Given the description of an element on the screen output the (x, y) to click on. 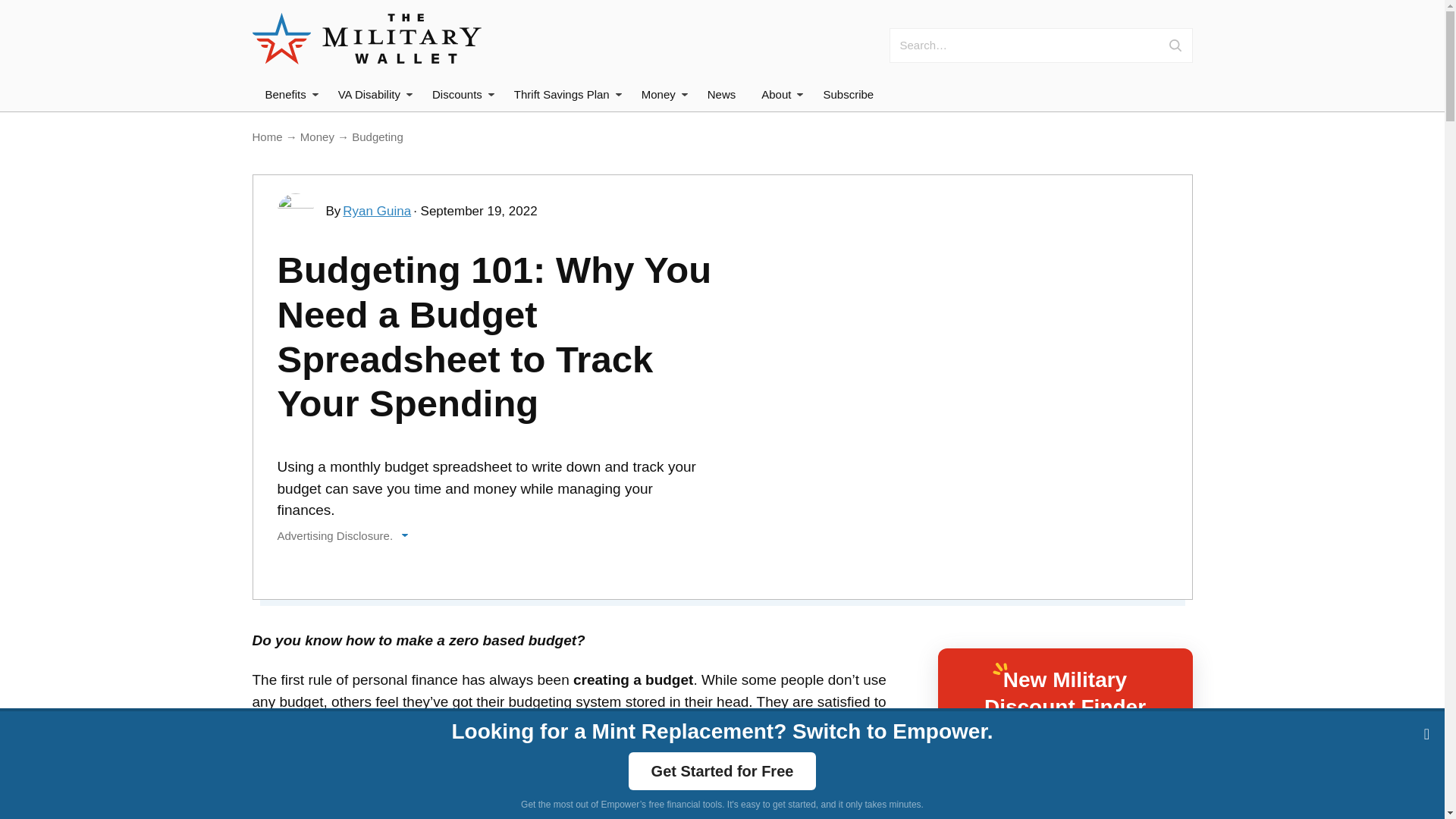
The Military Wallet (365, 38)
Discounts (460, 94)
Thrift Savings Plan (564, 94)
Search for (1060, 45)
VA Disability (372, 94)
Get Started for Free (722, 771)
Benefits (288, 94)
Money (661, 94)
